Given the description of an element on the screen output the (x, y) to click on. 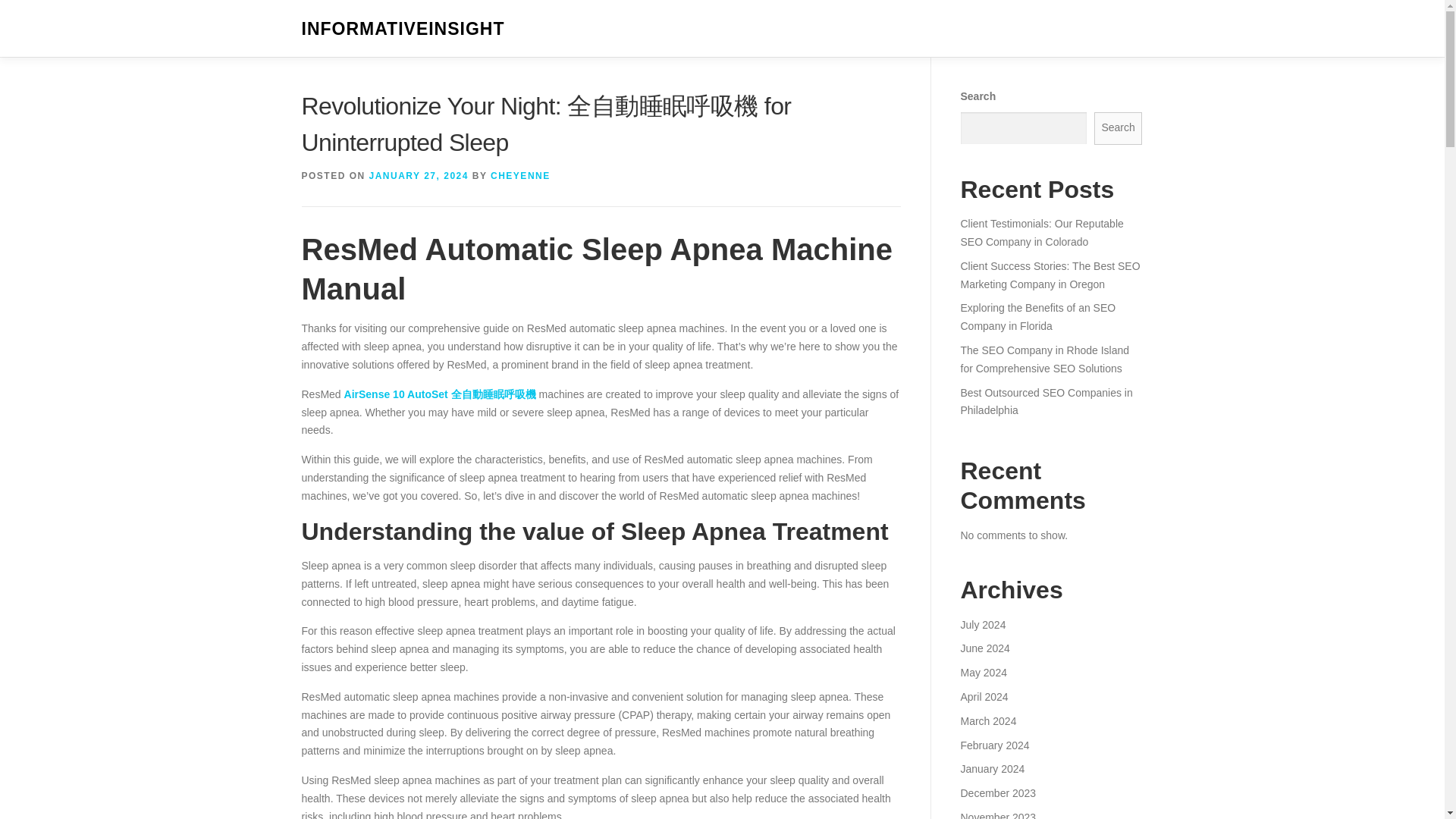
December 2023 (997, 793)
Search (1118, 128)
March 2024 (987, 720)
February 2024 (994, 744)
Client Testimonials: Our Reputable SEO Company in Colorado (1040, 232)
Best Outsourced SEO Companies in Philadelphia (1045, 401)
July 2024 (982, 624)
May 2024 (982, 672)
INFORMATIVEINSIGHT (403, 29)
November 2023 (997, 815)
JANUARY 27, 2024 (418, 175)
April 2024 (983, 696)
CHEYENNE (520, 175)
